Given the description of an element on the screen output the (x, y) to click on. 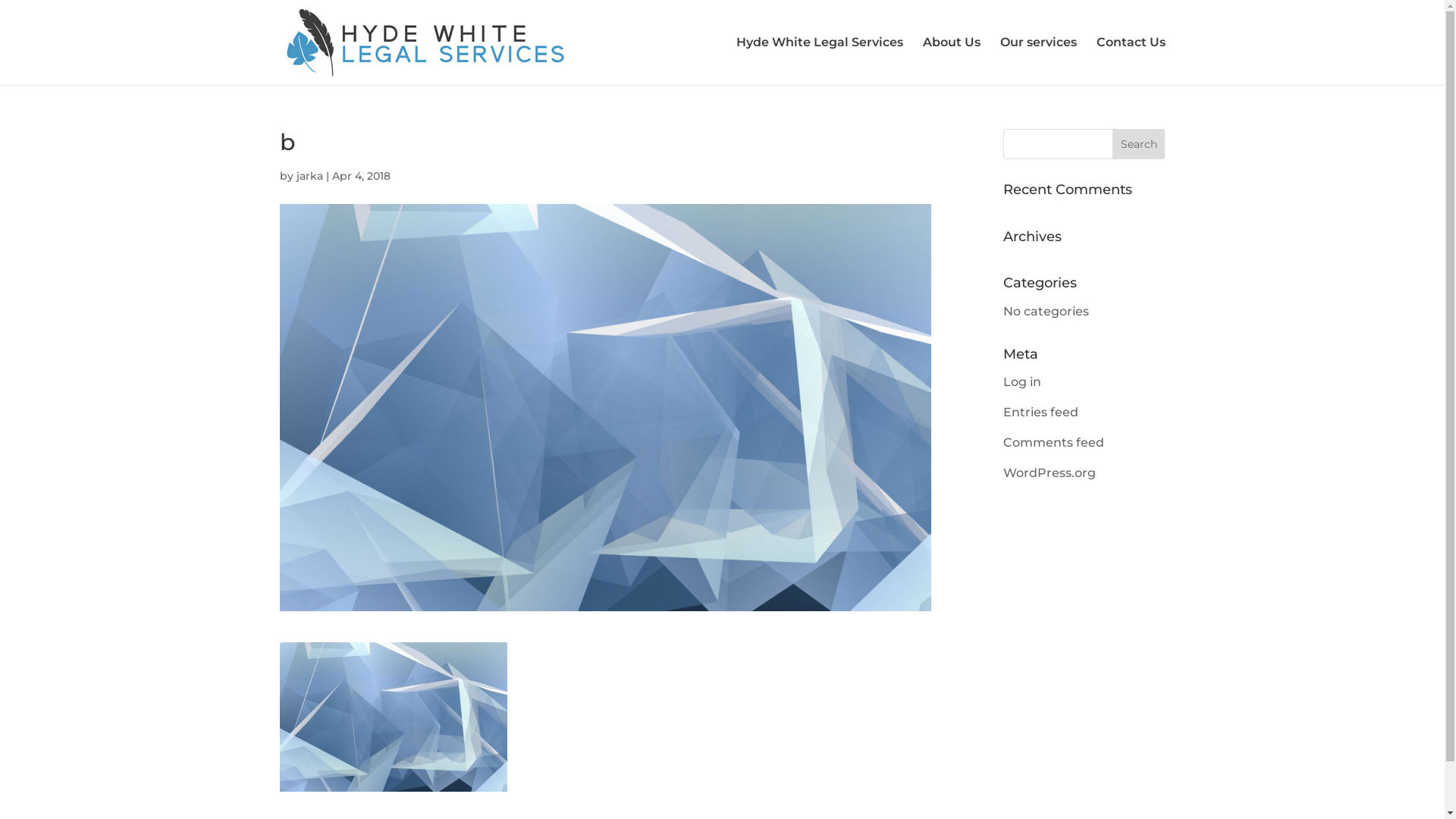
Hyde White Legal Services Element type: text (818, 60)
About Us Element type: text (950, 60)
WordPress.org Element type: text (1049, 472)
jarka Element type: text (308, 175)
Contact Us Element type: text (1130, 60)
Search Element type: text (1138, 143)
Entries feed Element type: text (1040, 411)
Our services Element type: text (1037, 60)
Log in Element type: text (1022, 381)
Comments feed Element type: text (1053, 442)
